Given the description of an element on the screen output the (x, y) to click on. 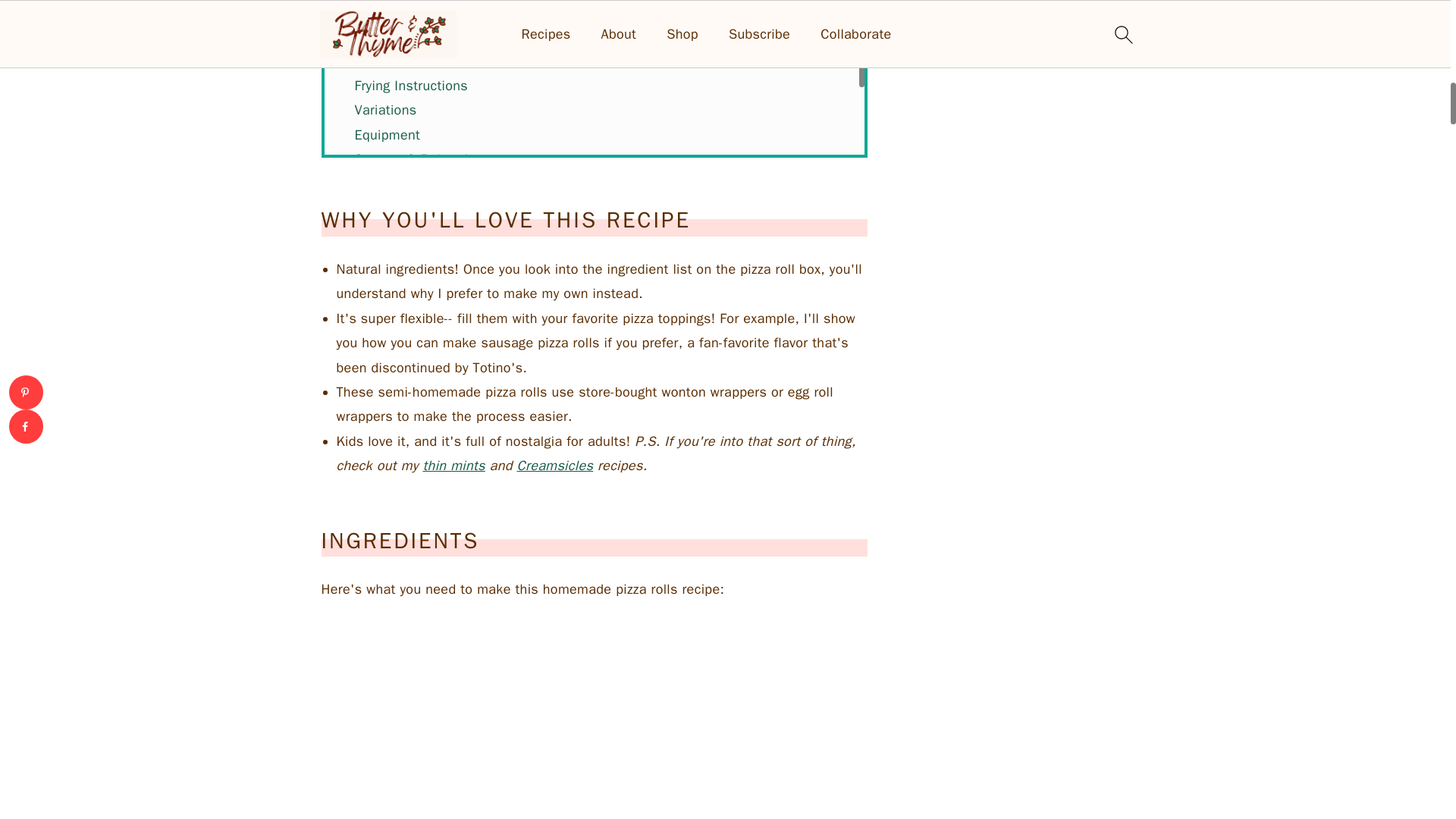
Top tip (376, 61)
Variations (385, 109)
Equipment (387, 134)
Frying Instructions (411, 85)
Ingredients (389, 12)
How to Make Homemade Pizza Rolls with Wonton Wrappers (540, 36)
